Given the description of an element on the screen output the (x, y) to click on. 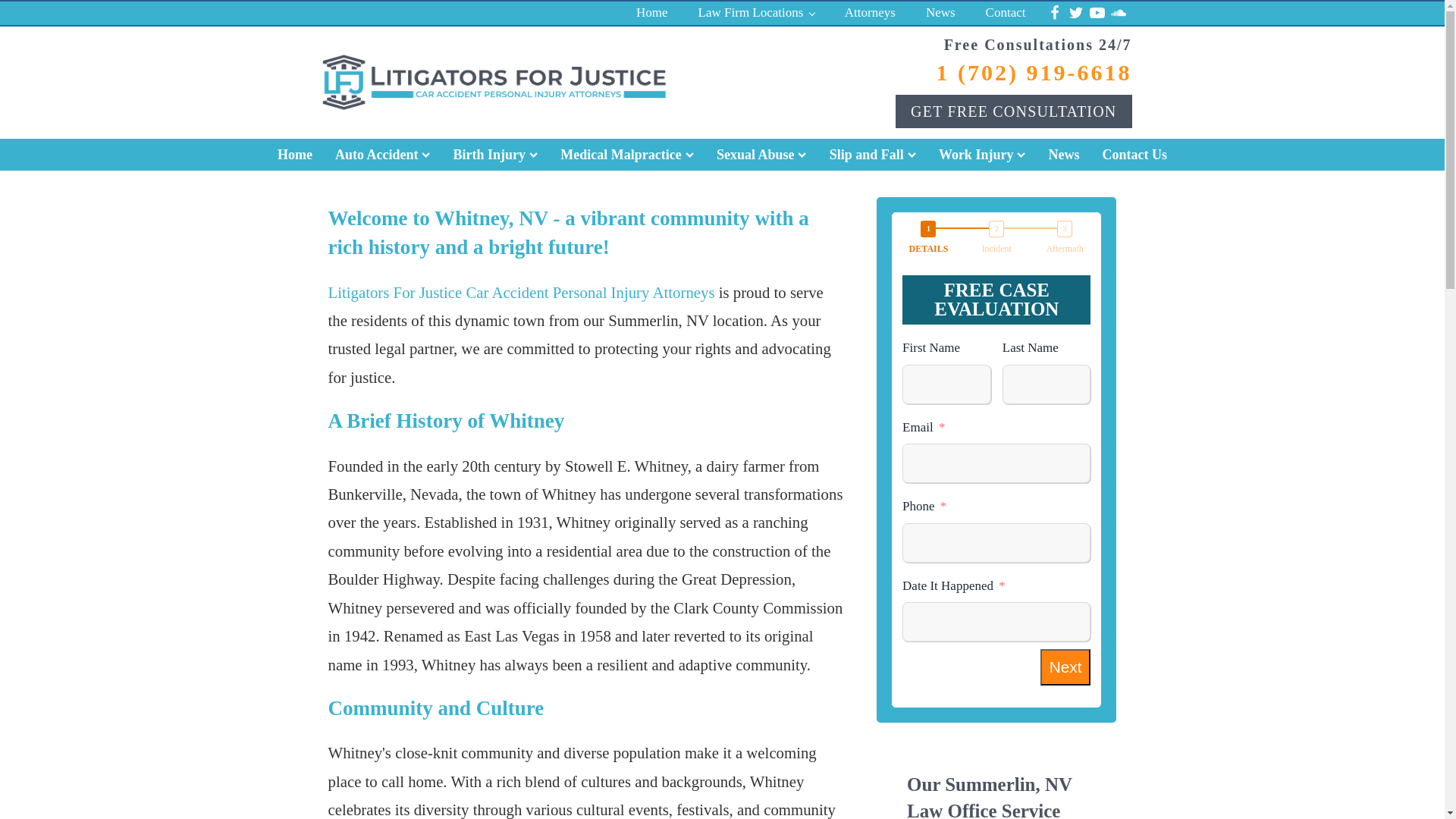
Law Firm Locations (755, 13)
Contact (1006, 13)
Medical Malpractice (626, 154)
News (941, 13)
Birth Injury (495, 154)
GET FREE CONSULTATION (1013, 111)
Home (651, 13)
Home (294, 154)
Attorneys (870, 13)
Auto Accident (382, 154)
